Given the description of an element on the screen output the (x, y) to click on. 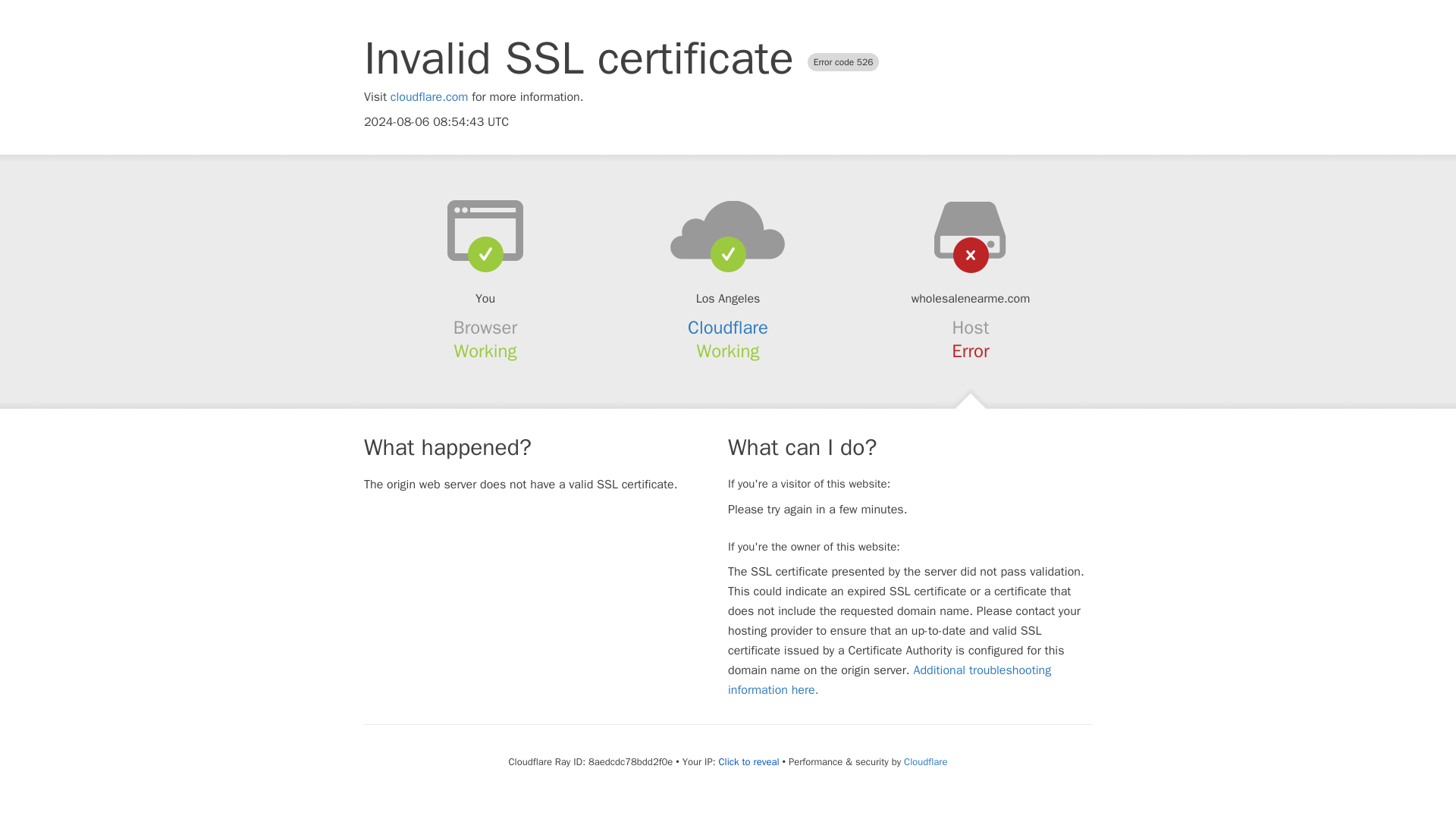
Cloudflare (925, 761)
cloudflare.com (429, 96)
Cloudflare (727, 327)
Click to reveal (748, 762)
Additional troubleshooting information here. (889, 679)
